Given the description of an element on the screen output the (x, y) to click on. 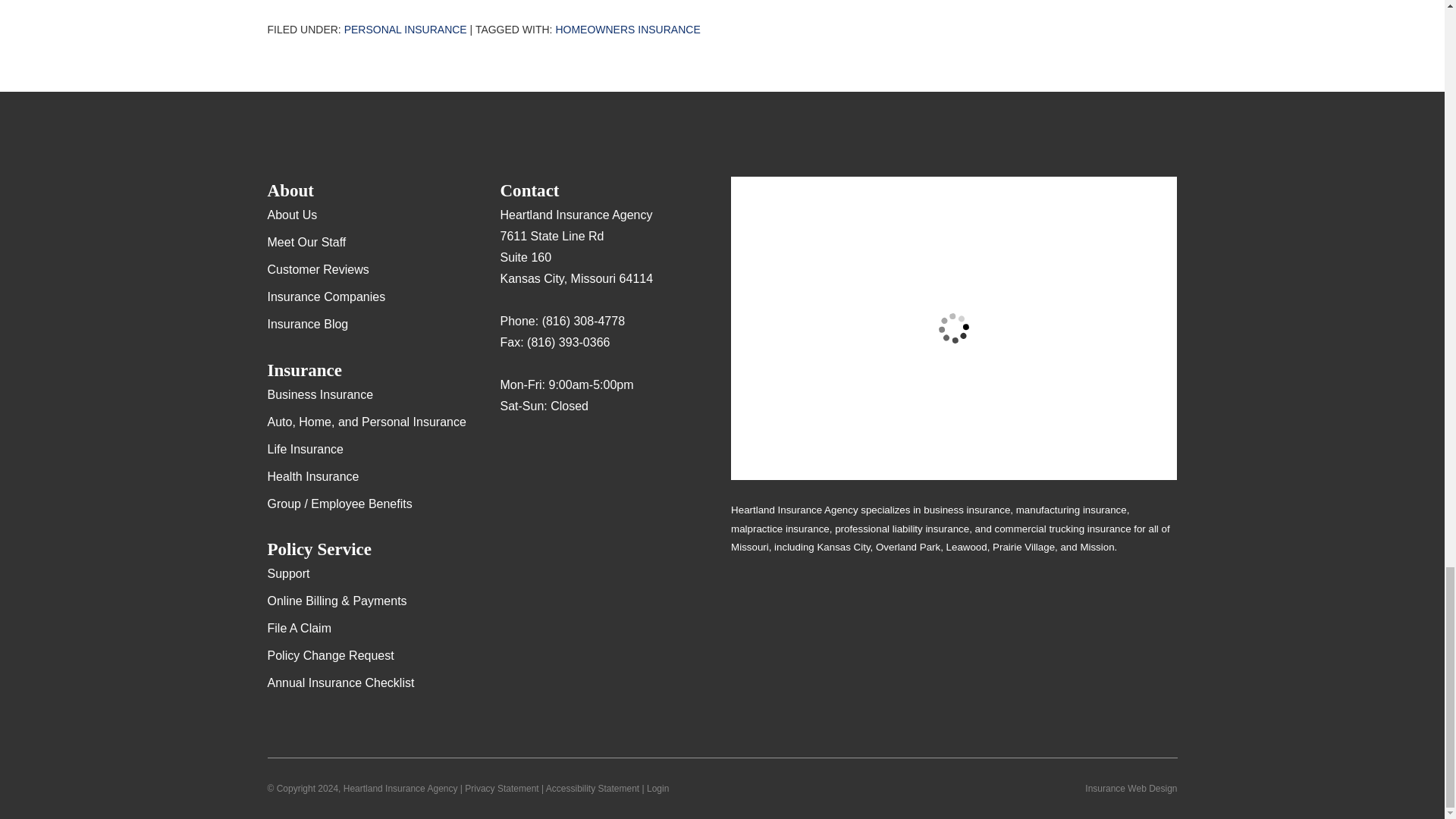
Homeowners Insurance (627, 29)
Facebook (571, 450)
Google Maps (511, 450)
LinkedIn (600, 450)
Yelp (541, 450)
Personal Insurance (405, 29)
